Given the description of an element on the screen output the (x, y) to click on. 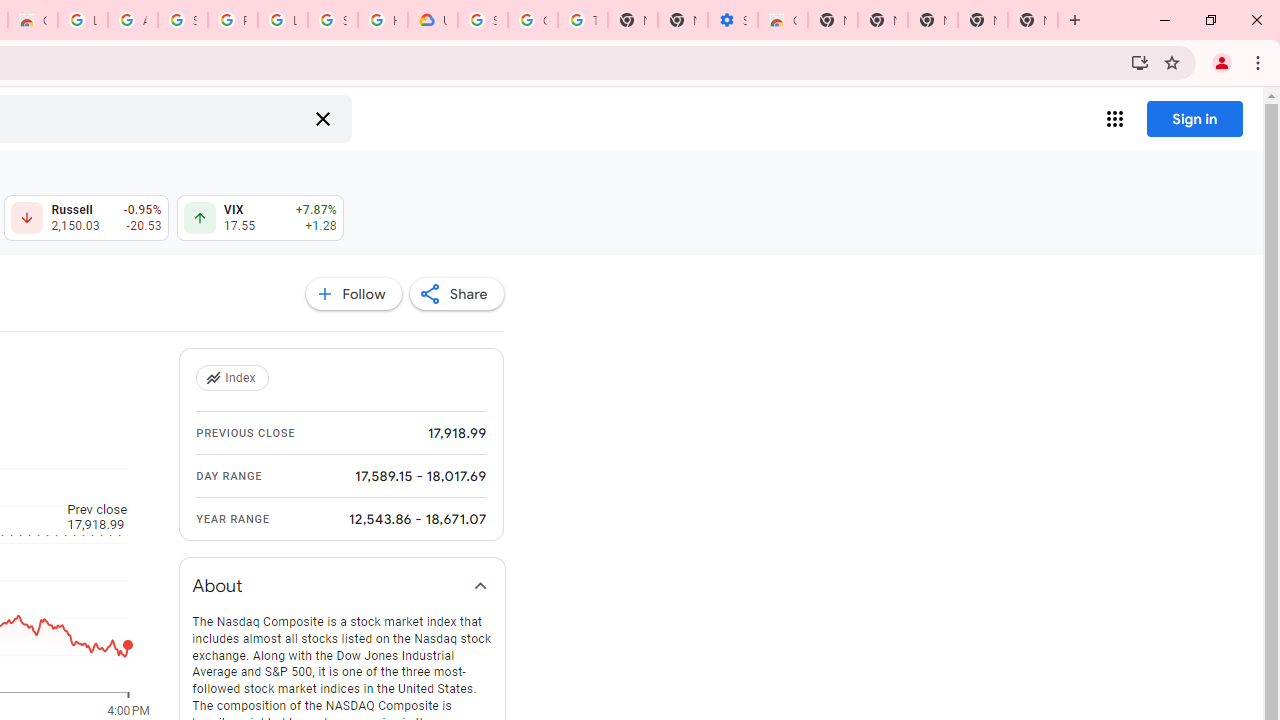
Follow (353, 293)
New Tab (1032, 20)
